Given the description of an element on the screen output the (x, y) to click on. 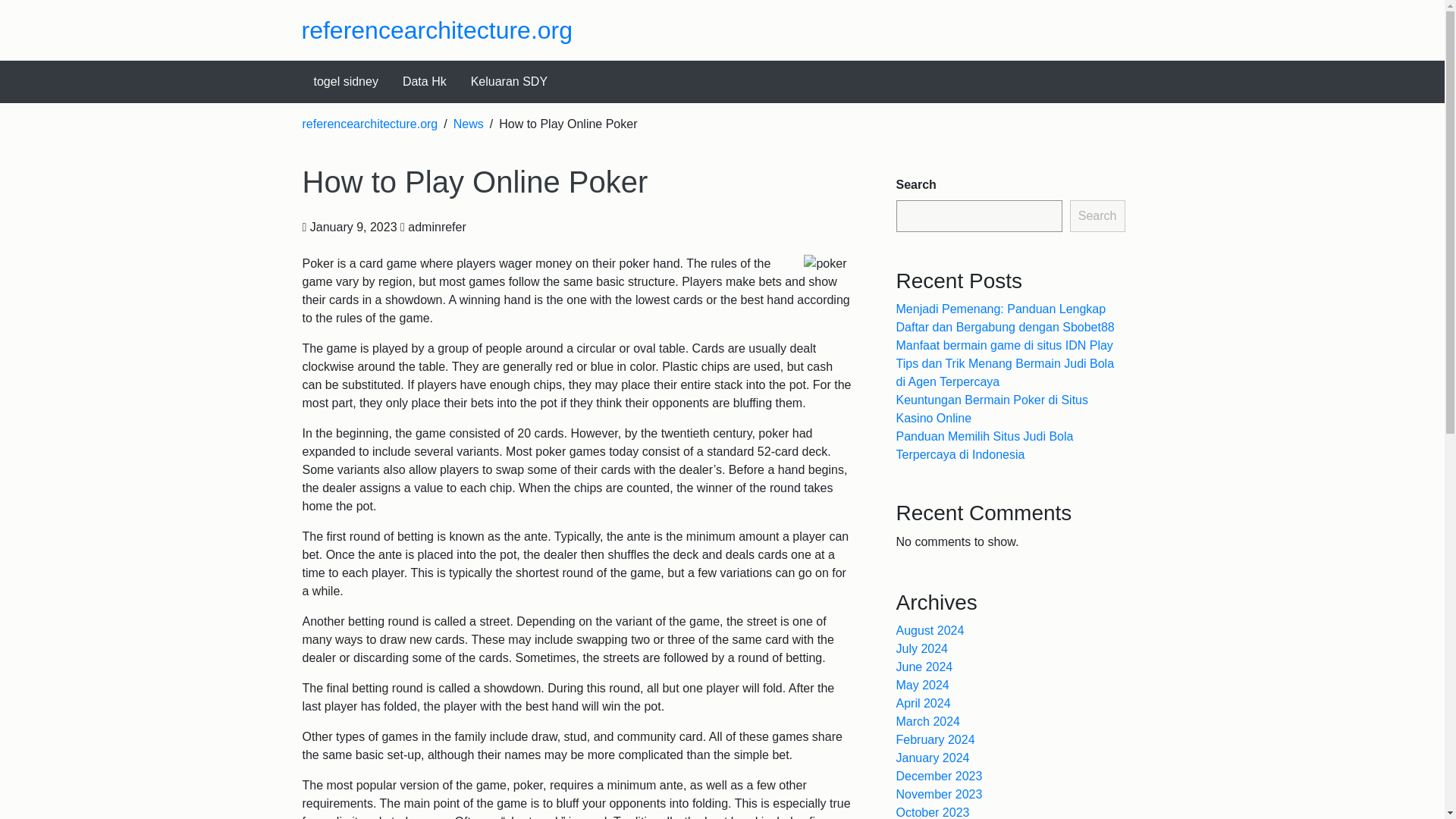
Data Hk (424, 81)
August 2024 (929, 630)
April 2024 (923, 703)
December 2023 (939, 775)
February 2024 (935, 739)
June 2024 (924, 666)
Search (1097, 215)
Keluaran SDY (508, 81)
Keluaran SDY (508, 81)
